Given the description of an element on the screen output the (x, y) to click on. 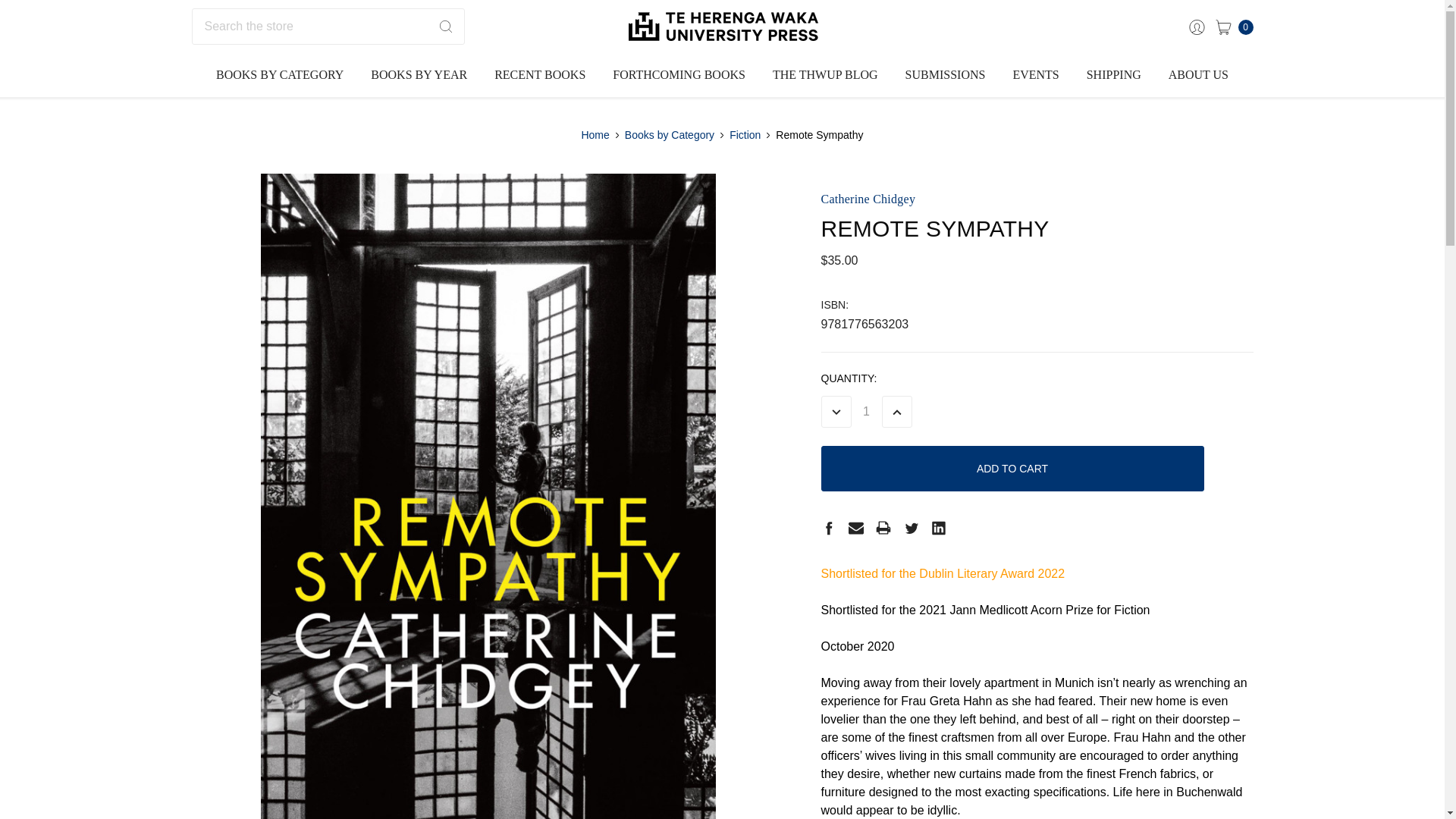
Facebook (828, 527)
Catherine Chidgey (868, 198)
Facebook (828, 527)
Te Herenga Waka University Press (721, 26)
EVENTS (1034, 75)
Email (855, 527)
1 (865, 411)
FORTHCOMING BOOKS (678, 75)
Fiction (744, 135)
Home (594, 135)
Email (855, 527)
INCREASE QUANTITY: (895, 411)
Add to Cart (1012, 468)
Books by Category (669, 135)
Twitter (911, 527)
